Given the description of an element on the screen output the (x, y) to click on. 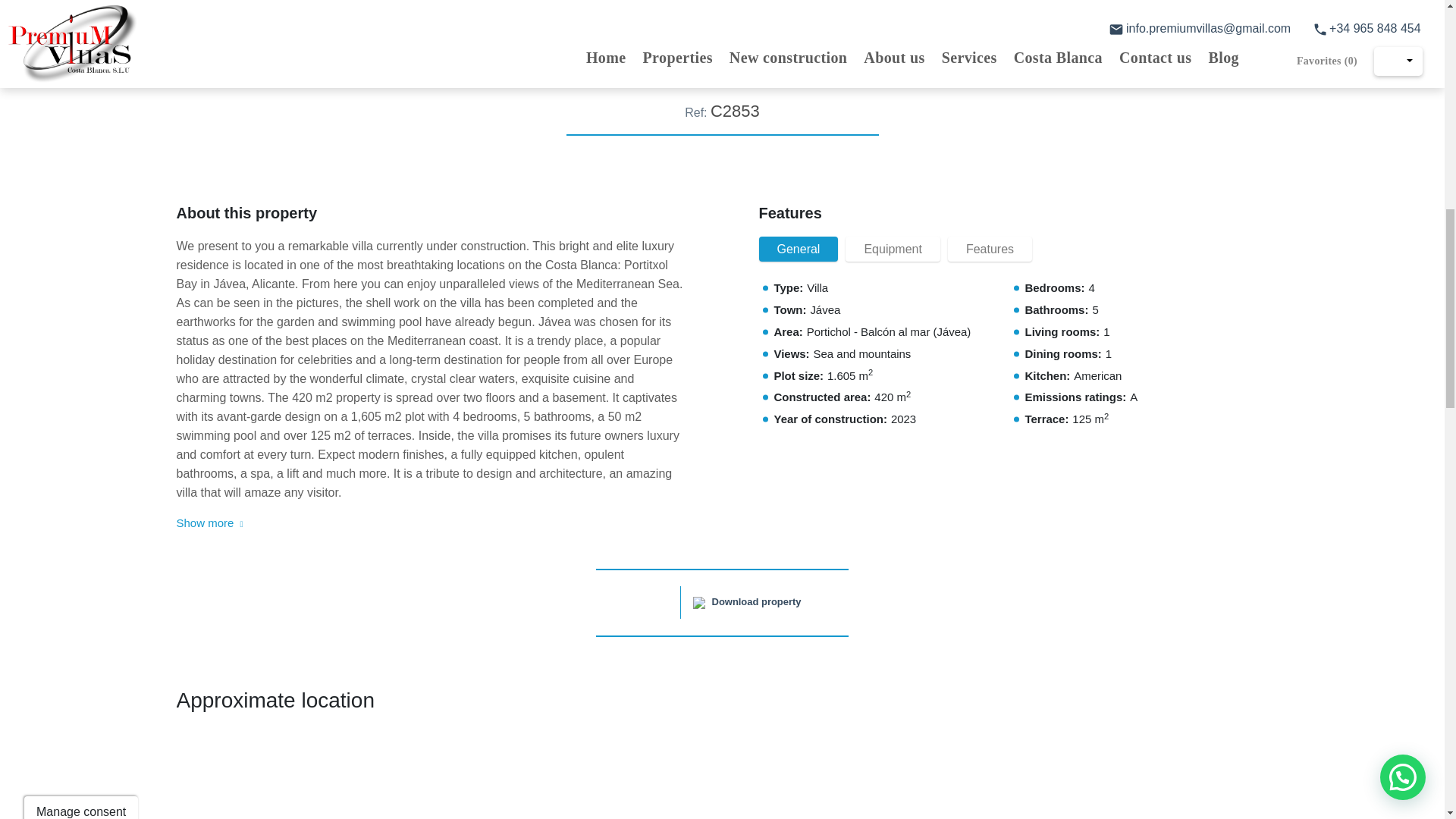
Features (989, 249)
Show more (211, 522)
Equipment (892, 249)
General (798, 249)
Download property (747, 602)
